Given the description of an element on the screen output the (x, y) to click on. 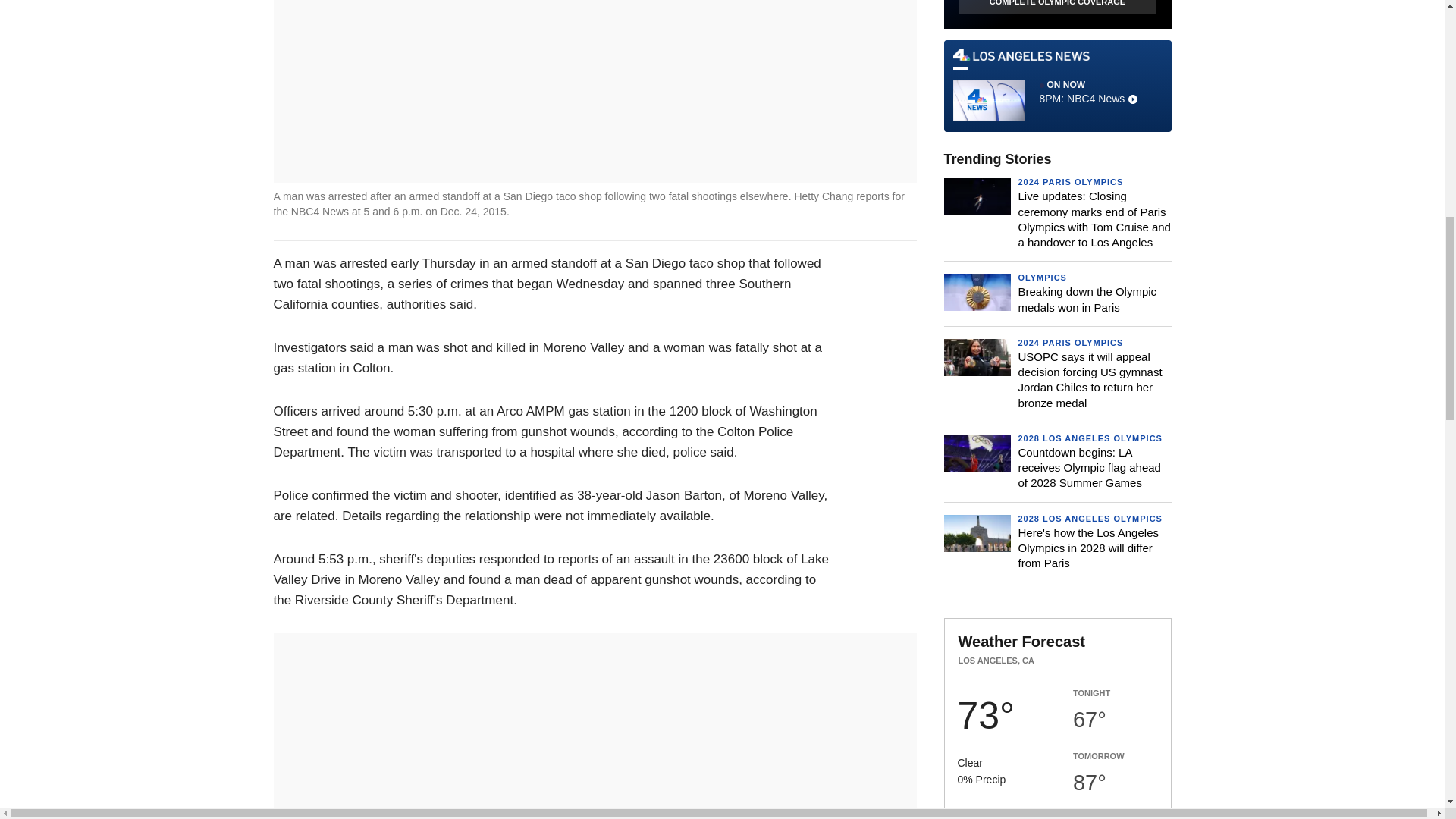
2024 PARIS OLYMPICS (1069, 181)
COMPLETE OLYMPIC COVERAGE (1056, 85)
